Given the description of an element on the screen output the (x, y) to click on. 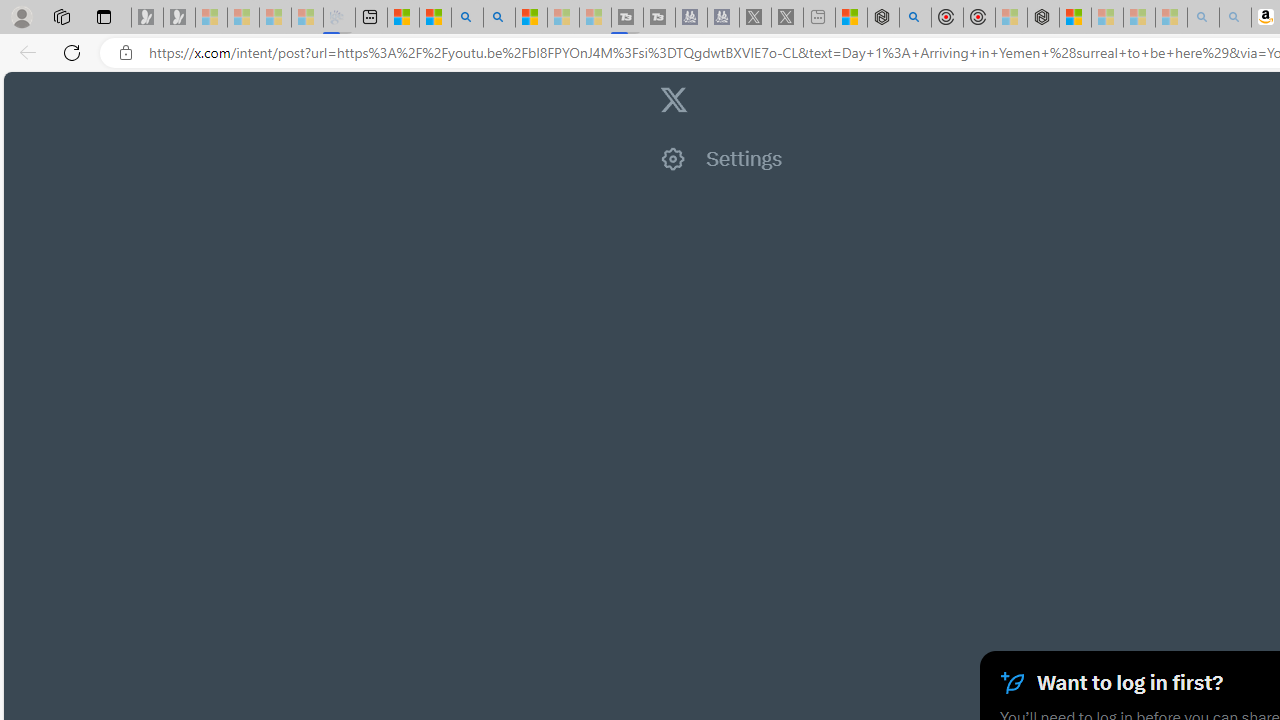
Workspaces (61, 16)
Nordace - Nordace Siena Is Not An Ordinary Backpack (1042, 17)
Nordace - Summer Adventures 2024 (882, 17)
